Given the description of an element on the screen output the (x, y) to click on. 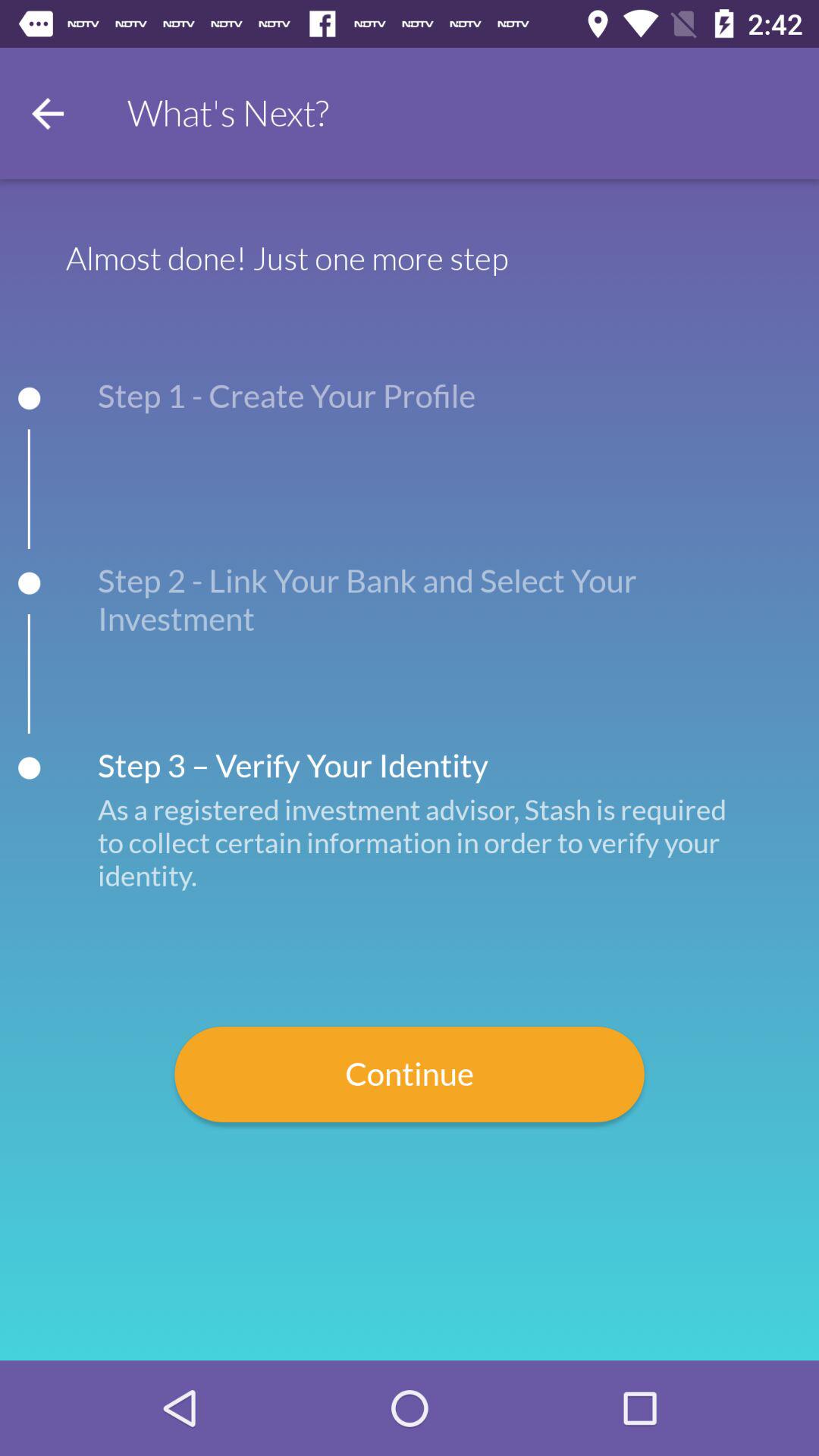
go to previous (47, 113)
